Given the description of an element on the screen output the (x, y) to click on. 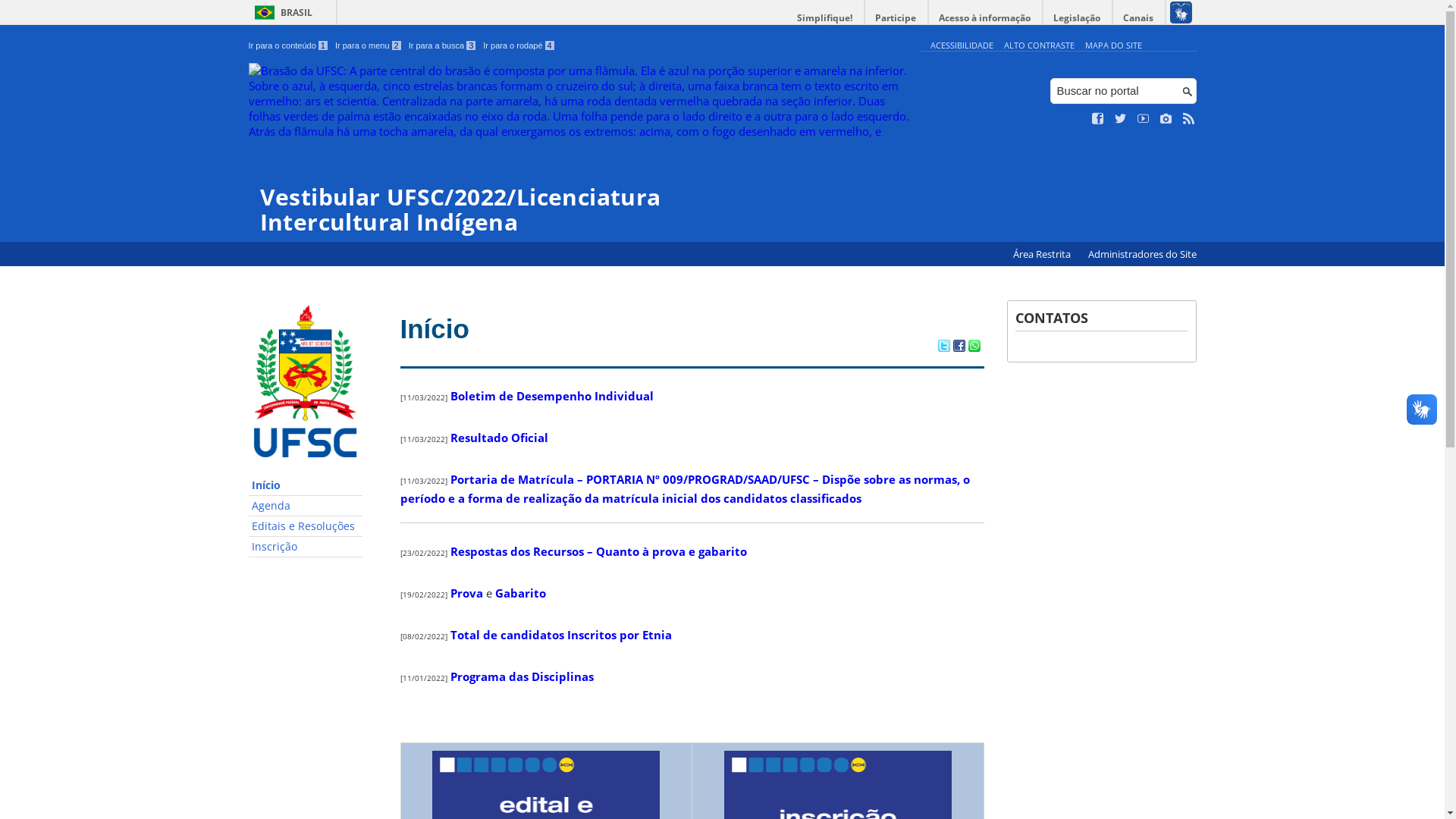
Curta no Facebook Element type: hover (1098, 118)
Compartilhar no Twitter Element type: hover (943, 346)
Resultado Oficial Element type: text (499, 437)
ACESSIBILIDADE Element type: text (960, 44)
Administradores do Site Element type: text (1141, 253)
Agenda Element type: text (305, 505)
Total de candidatos Inscritos por Etnia Element type: text (560, 634)
Compartilhar no Facebook Element type: hover (958, 346)
Boletim de Desempenho Individual Element type: text (551, 395)
Siga no Twitter Element type: hover (1120, 118)
Participe Element type: text (895, 18)
Veja no Instagram Element type: hover (1166, 118)
Compartilhar no WhatsApp Element type: hover (973, 346)
Gabarito Element type: text (519, 592)
Ir para a busca 3 Element type: text (442, 45)
Ir para o menu 2 Element type: text (368, 45)
Prova Element type: text (466, 592)
MAPA DO SITE Element type: text (1112, 44)
BRASIL Element type: text (280, 12)
Simplifique! Element type: text (825, 18)
Canais Element type: text (1138, 18)
ALTO CONTRASTE Element type: text (1039, 44)
Programa das Disciplinas Element type: text (521, 676)
